Given the description of an element on the screen output the (x, y) to click on. 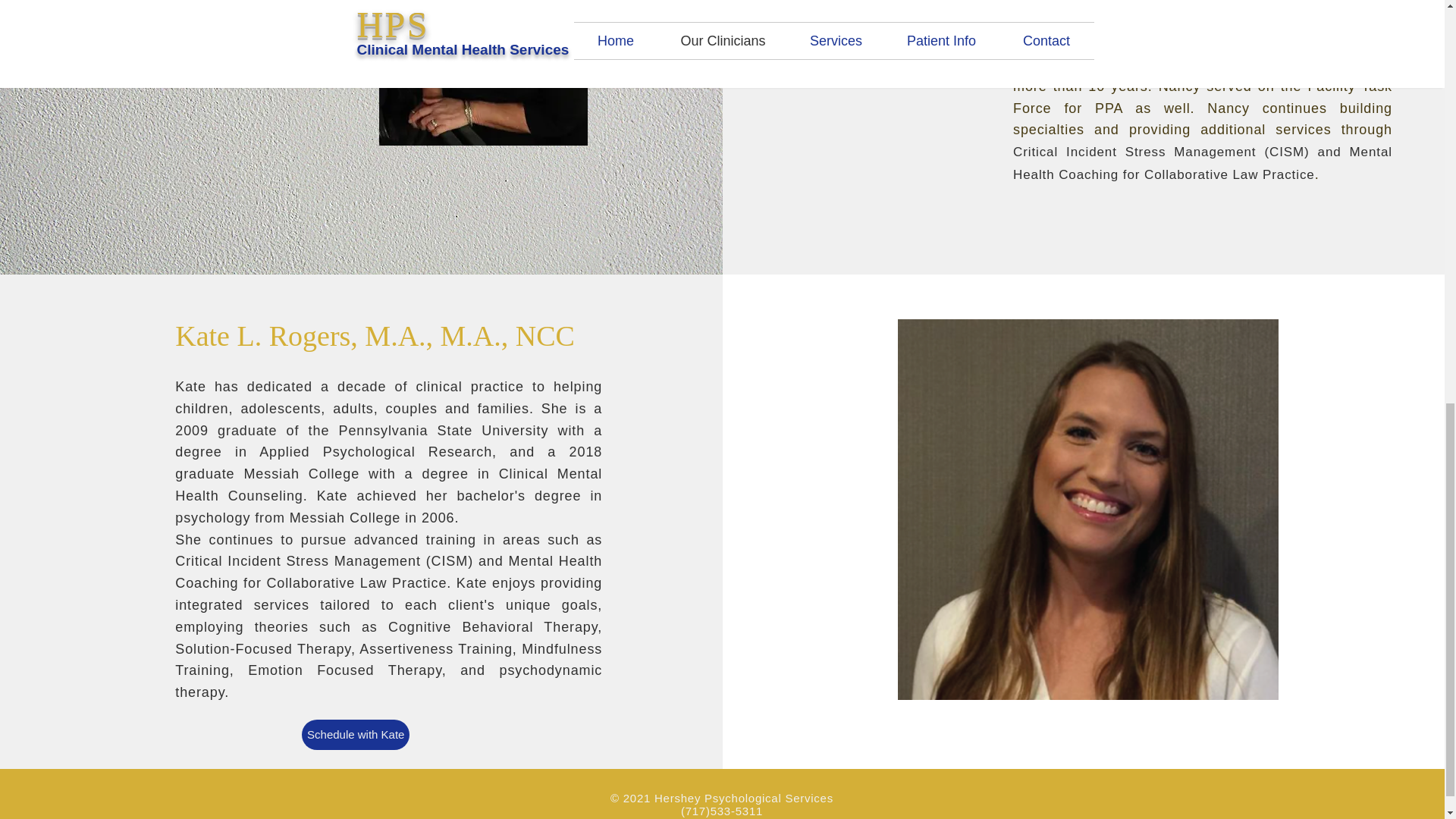
Schedule with Kate (355, 734)
